Given the description of an element on the screen output the (x, y) to click on. 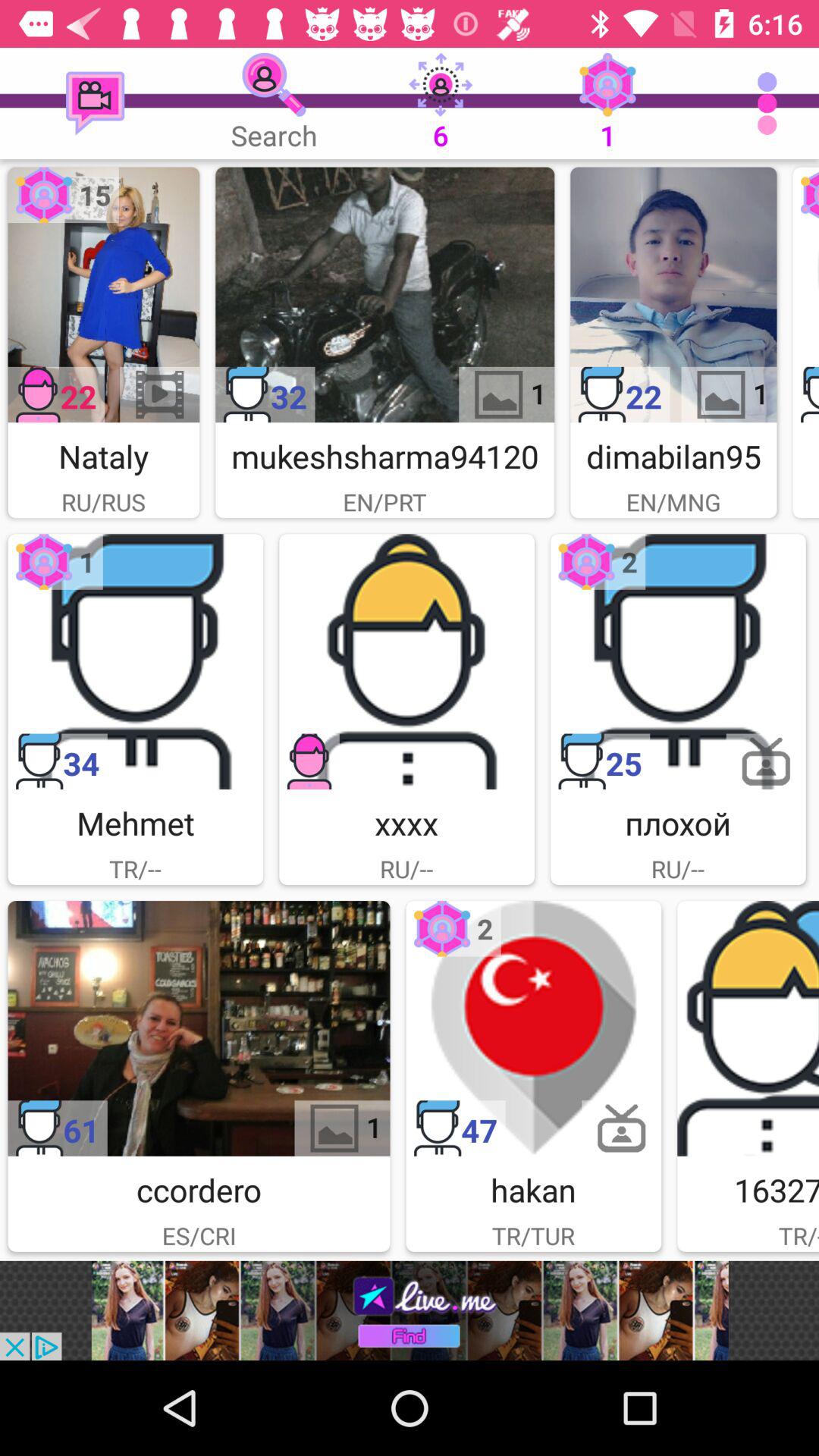
select this item (135, 661)
